Given the description of an element on the screen output the (x, y) to click on. 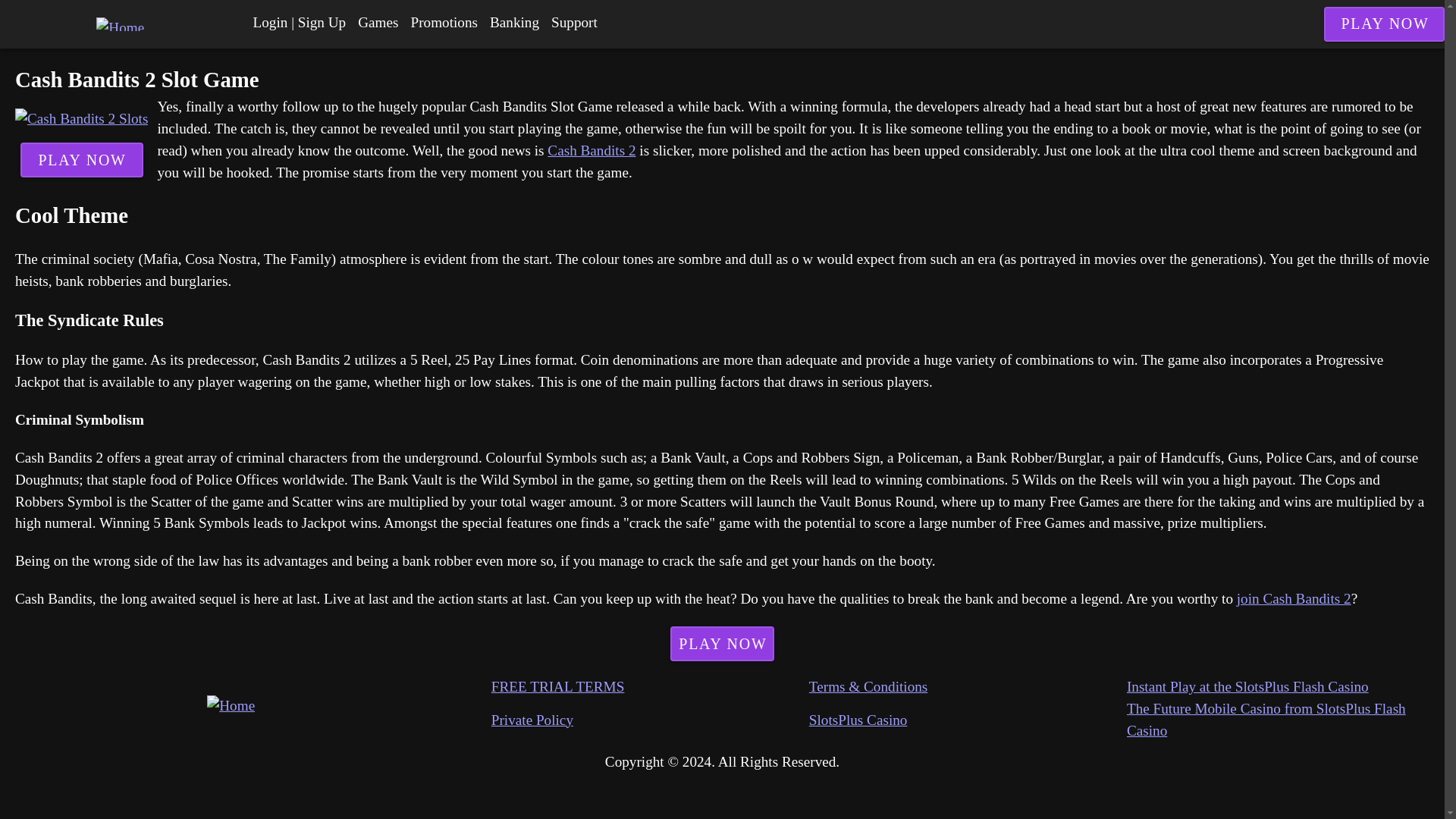
Promotions (444, 22)
join Cash Bandits 2 (1293, 598)
Private Policy (650, 721)
PLAY NOW (81, 159)
SlotsPlus Casino (967, 721)
Games (378, 22)
Cash Bandits 2 (590, 150)
Banking (513, 22)
PLAY NOW (721, 643)
Support (574, 22)
